Given the description of an element on the screen output the (x, y) to click on. 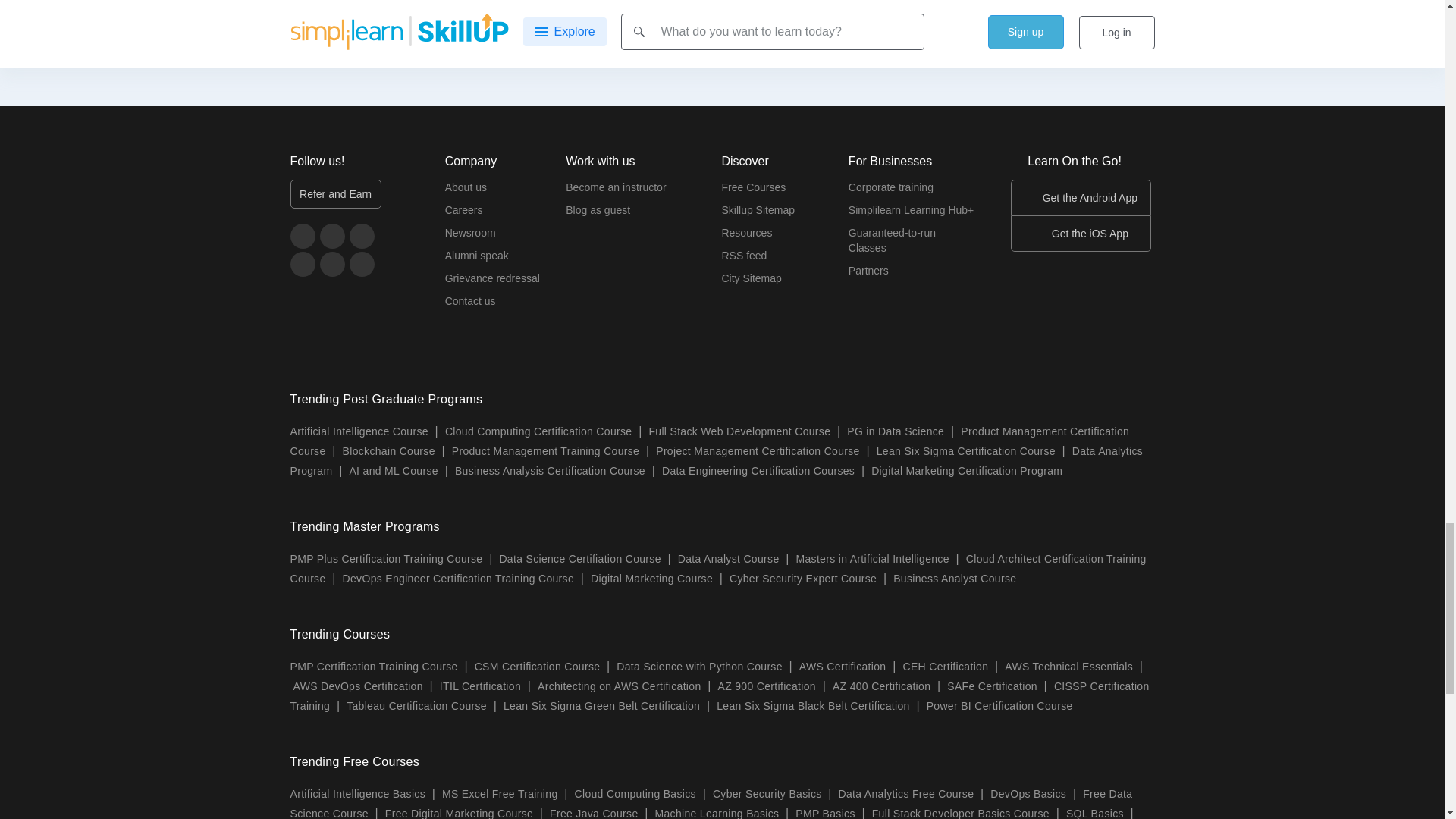
Twitter (332, 235)
Newsroom (470, 236)
About us (465, 190)
Refer and Earn (334, 193)
Refer and Earn (334, 193)
Alumni speak (476, 259)
Careers (464, 213)
Free CISSP Training with Certificate (390, 8)
Grievance redressal (492, 282)
Facebook (390, 8)
